Given the description of an element on the screen output the (x, y) to click on. 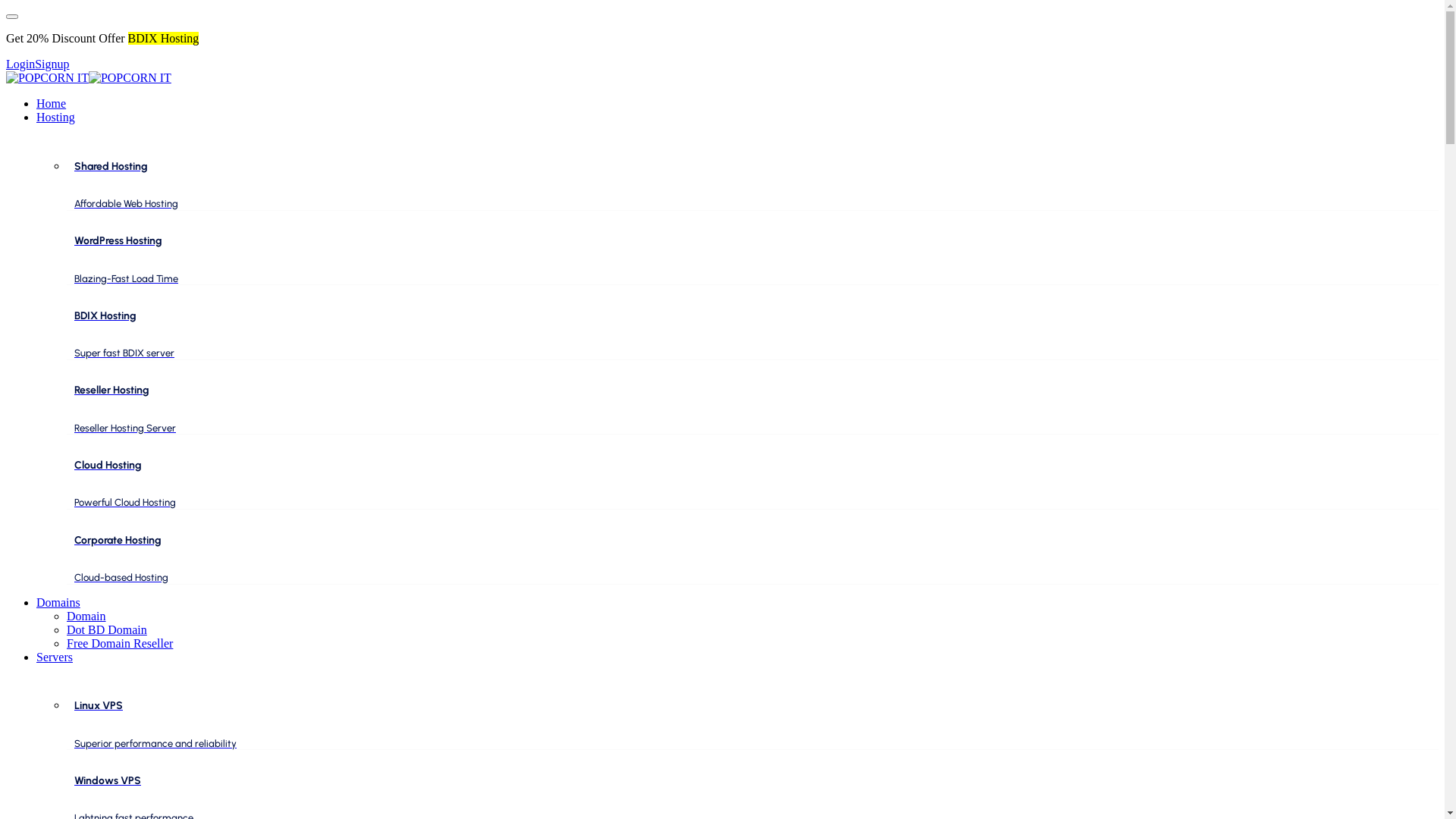
Domains Element type: text (58, 602)
Linux VPS
Superior performance and reliability Element type: text (752, 724)
Dot BD Domain Element type: text (106, 629)
Home Element type: text (50, 103)
Shared Hosting
Affordable Web Hosting Element type: text (752, 185)
Cloud Hosting
Powerful Cloud Hosting Element type: text (752, 483)
Signup Element type: text (51, 63)
Domain Element type: text (86, 615)
Servers Element type: text (54, 656)
Reseller Hosting
Reseller Hosting Server Element type: text (752, 408)
Corporate Hosting
Cloud-based Hosting Element type: text (752, 558)
Hosting Element type: text (55, 116)
BDIX Hosting
Super fast BDIX server Element type: text (752, 334)
Login Element type: text (20, 63)
WordPress Hosting
Blazing-Fast Load Time Element type: text (752, 259)
Free Domain Reseller Element type: text (119, 643)
